Given the description of an element on the screen output the (x, y) to click on. 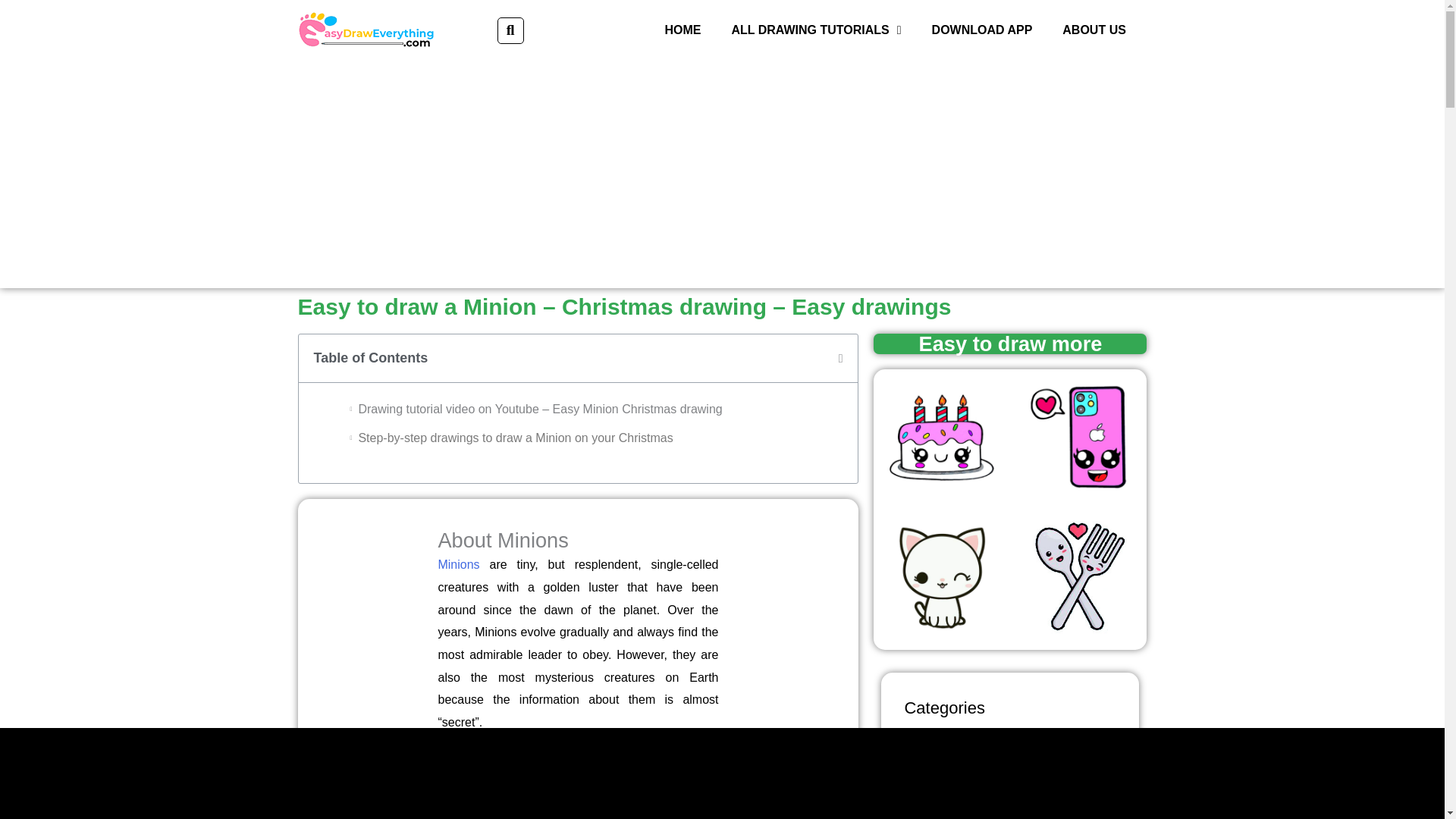
HOME (682, 30)
ABOUT US (1093, 30)
ALL DRAWING TUTORIALS (815, 30)
DOWNLOAD APP (982, 30)
